Given the description of an element on the screen output the (x, y) to click on. 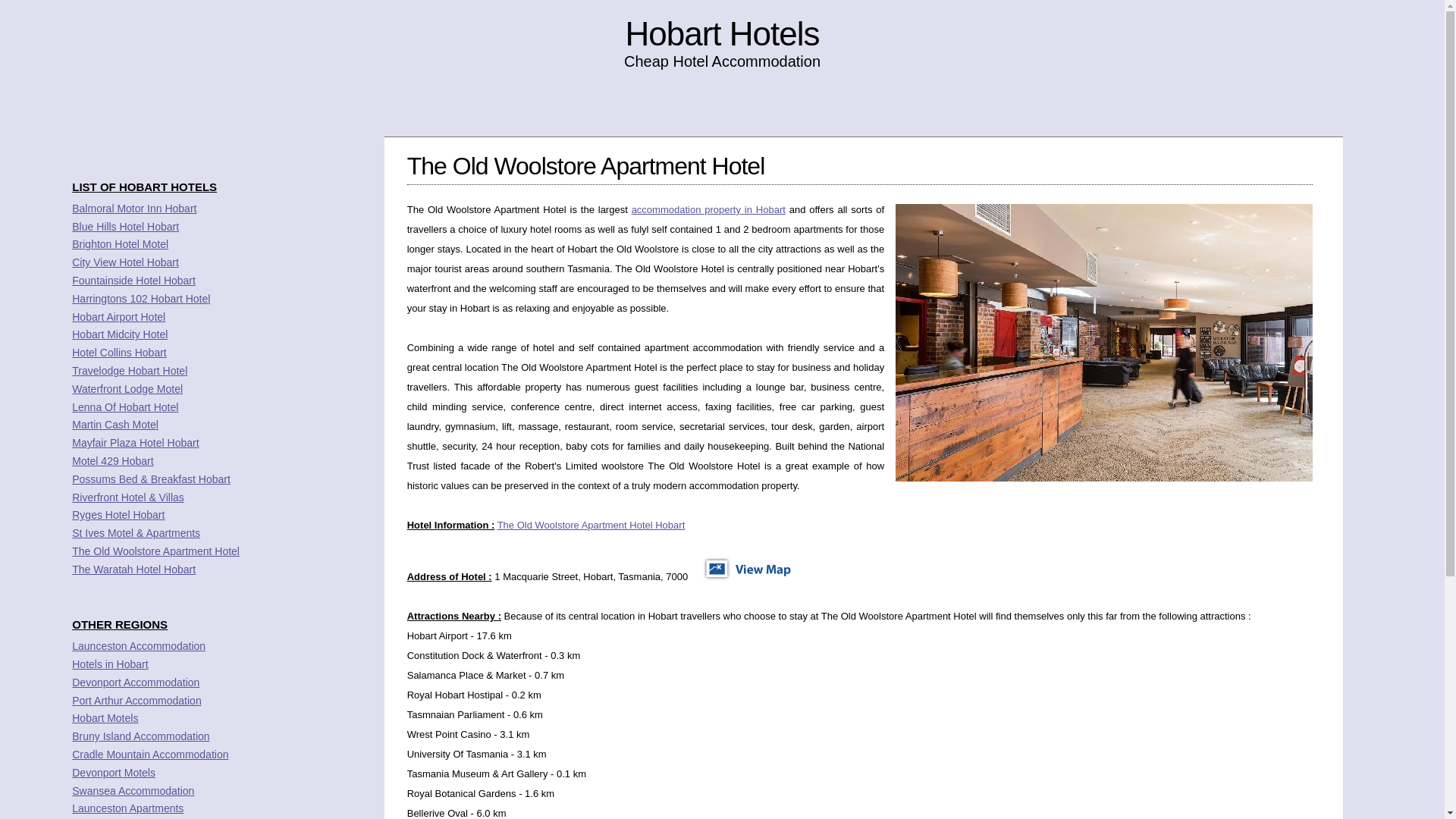
Cradle Mountain Accommodation (149, 754)
Port Arthur Accommodation (135, 700)
Ryges Hotel Hobart (117, 514)
Ryges Hotel Hobart (117, 514)
Balmoral Motor Inn Hobart (133, 208)
Martin Cash Motel (114, 424)
Fountainside Hotel Hobart (133, 280)
Brighton Hotel Motel (119, 244)
Mayfair Plaza Hotel Hobart (134, 442)
Lenna Of Hobart Hotel (124, 407)
